Given the description of an element on the screen output the (x, y) to click on. 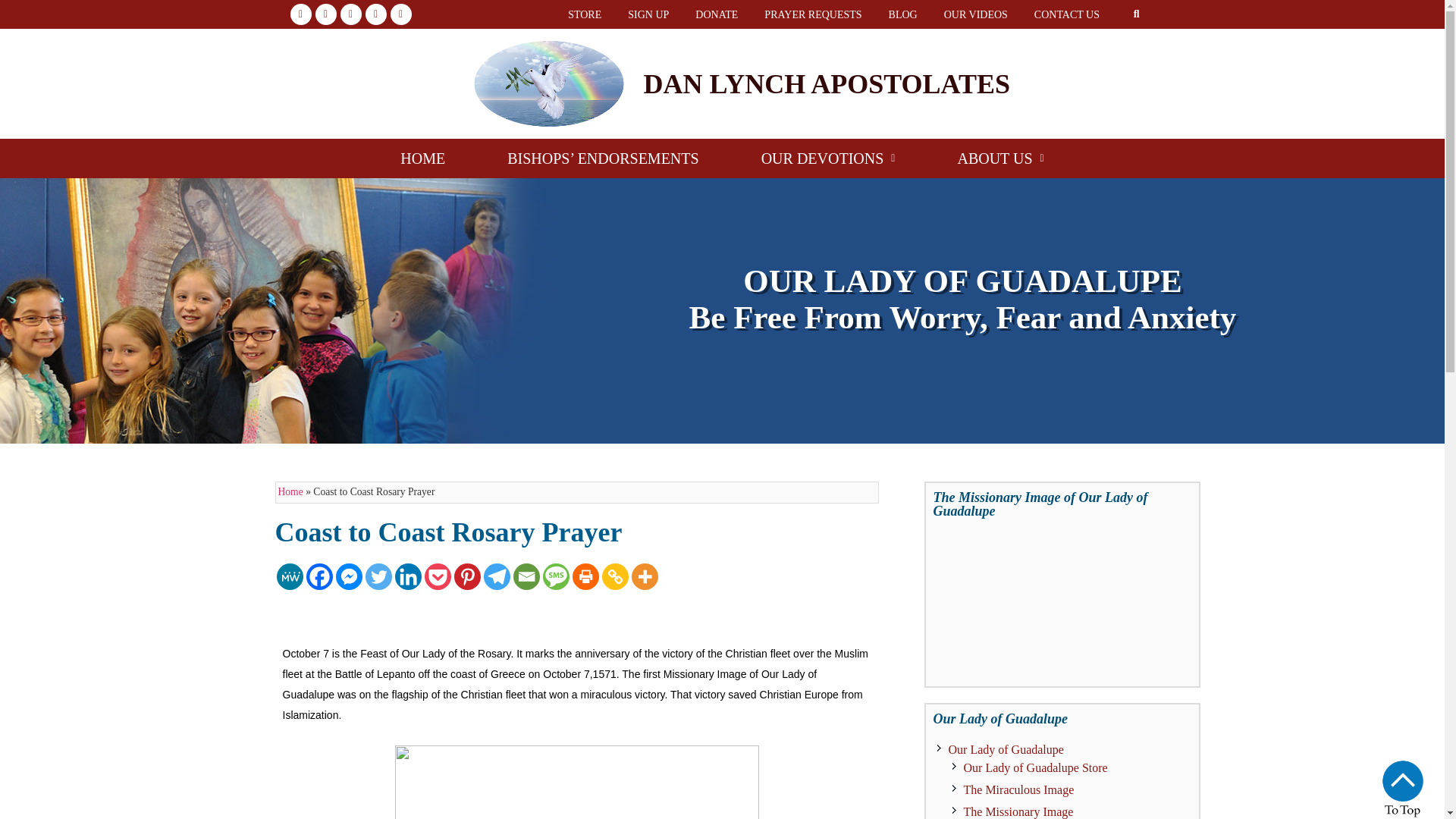
PRAYER REQUESTS (812, 13)
Pinterest (466, 576)
OUR DEVOTIONS (828, 158)
MeWe (289, 576)
HOME (422, 158)
Facebook (319, 576)
CONTACT US (1066, 13)
Copy Link (615, 576)
STORE (584, 13)
Pocket (438, 576)
ABOUT US (1000, 158)
Telegram (497, 576)
Email (525, 576)
Twitter (378, 576)
DONATE (716, 13)
